Given the description of an element on the screen output the (x, y) to click on. 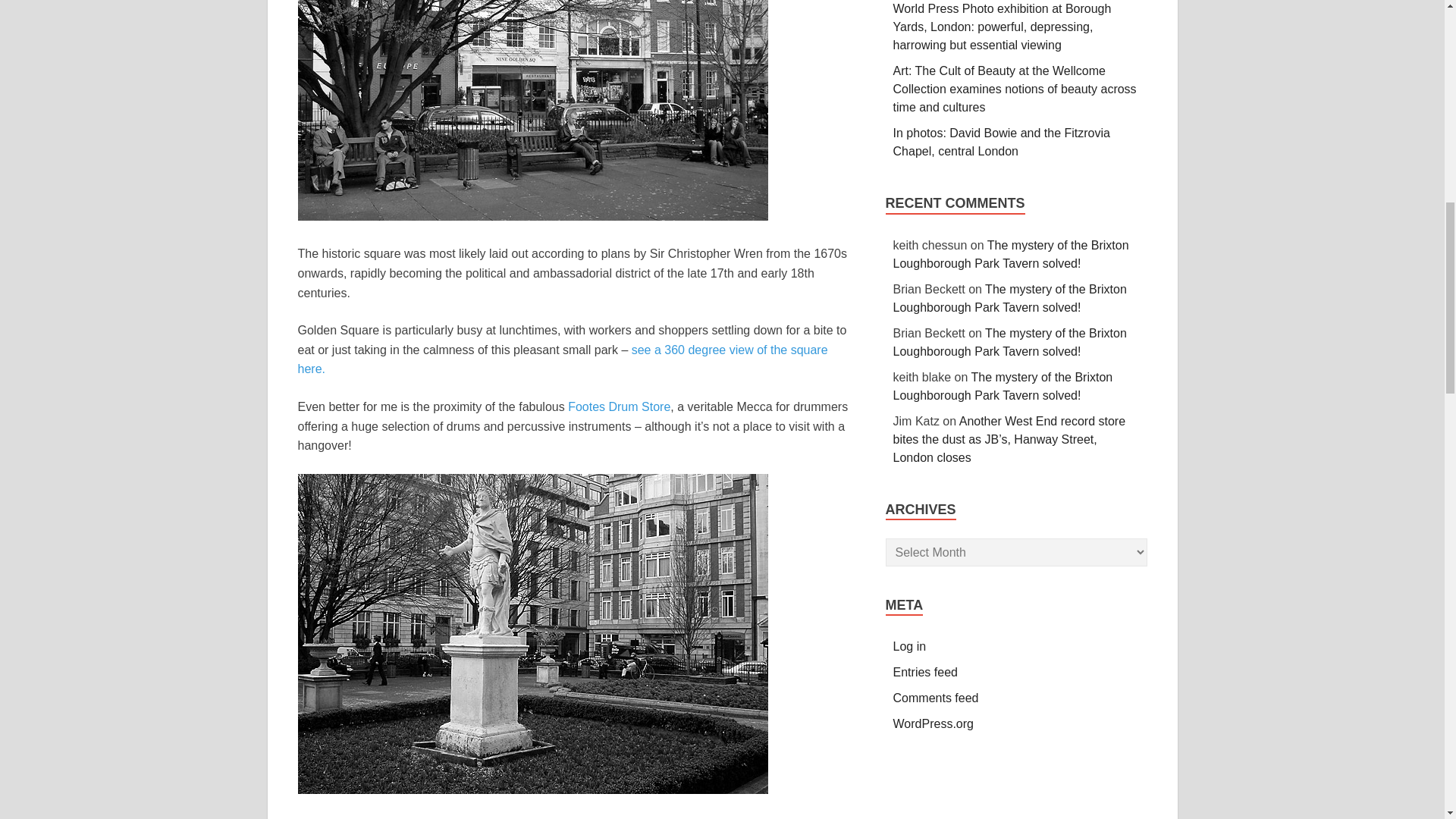
Footes Drum Store (618, 406)
lunchtime-at-golden-square-2 (532, 110)
see a 360 degree view of the square here. (562, 359)
